Given the description of an element on the screen output the (x, y) to click on. 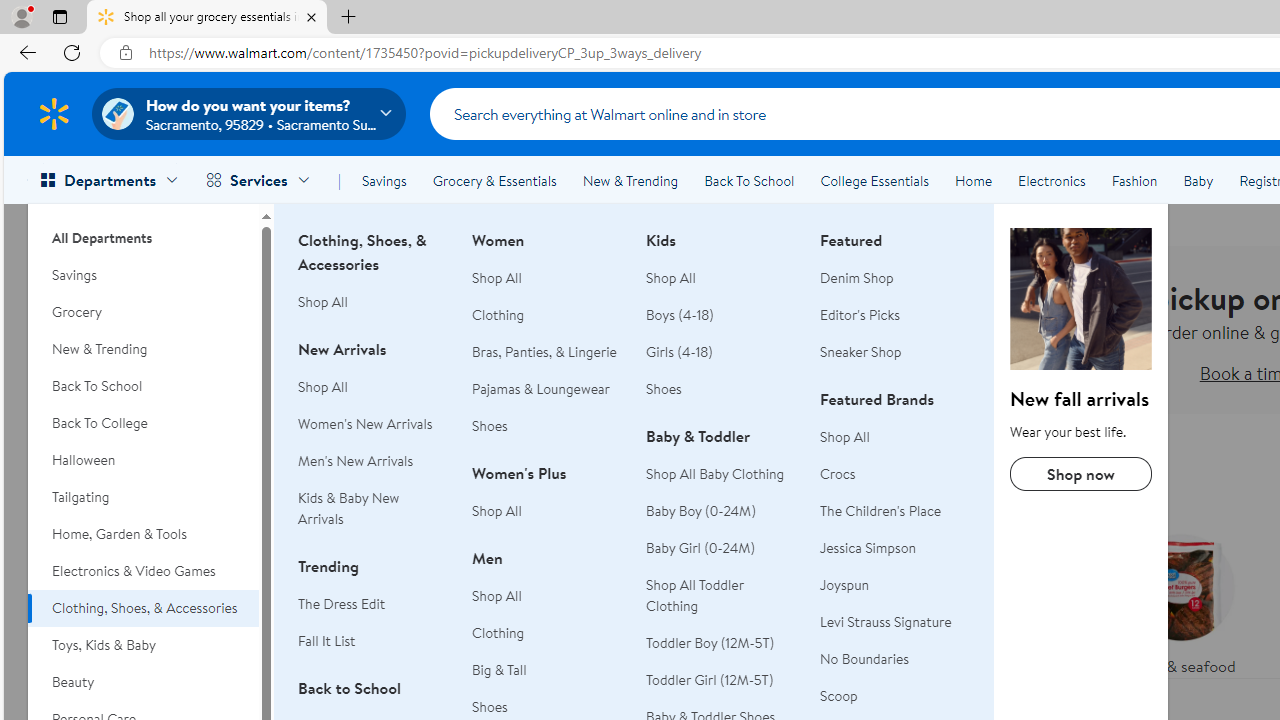
Fashion (1134, 180)
Boys (4-18) (721, 315)
Clothing, Shoes, & AccessoriesShop All (373, 282)
Home, Garden & Tools (143, 534)
Fashion (1134, 180)
Big & Tall (499, 669)
Baby (1197, 180)
Crocs (895, 474)
Back To College (143, 423)
Boys (4-18) (680, 314)
Women's PlusShop All (547, 502)
The Children's Place (895, 511)
Home, Garden & Tools (143, 534)
All Departments (143, 230)
